Given the description of an element on the screen output the (x, y) to click on. 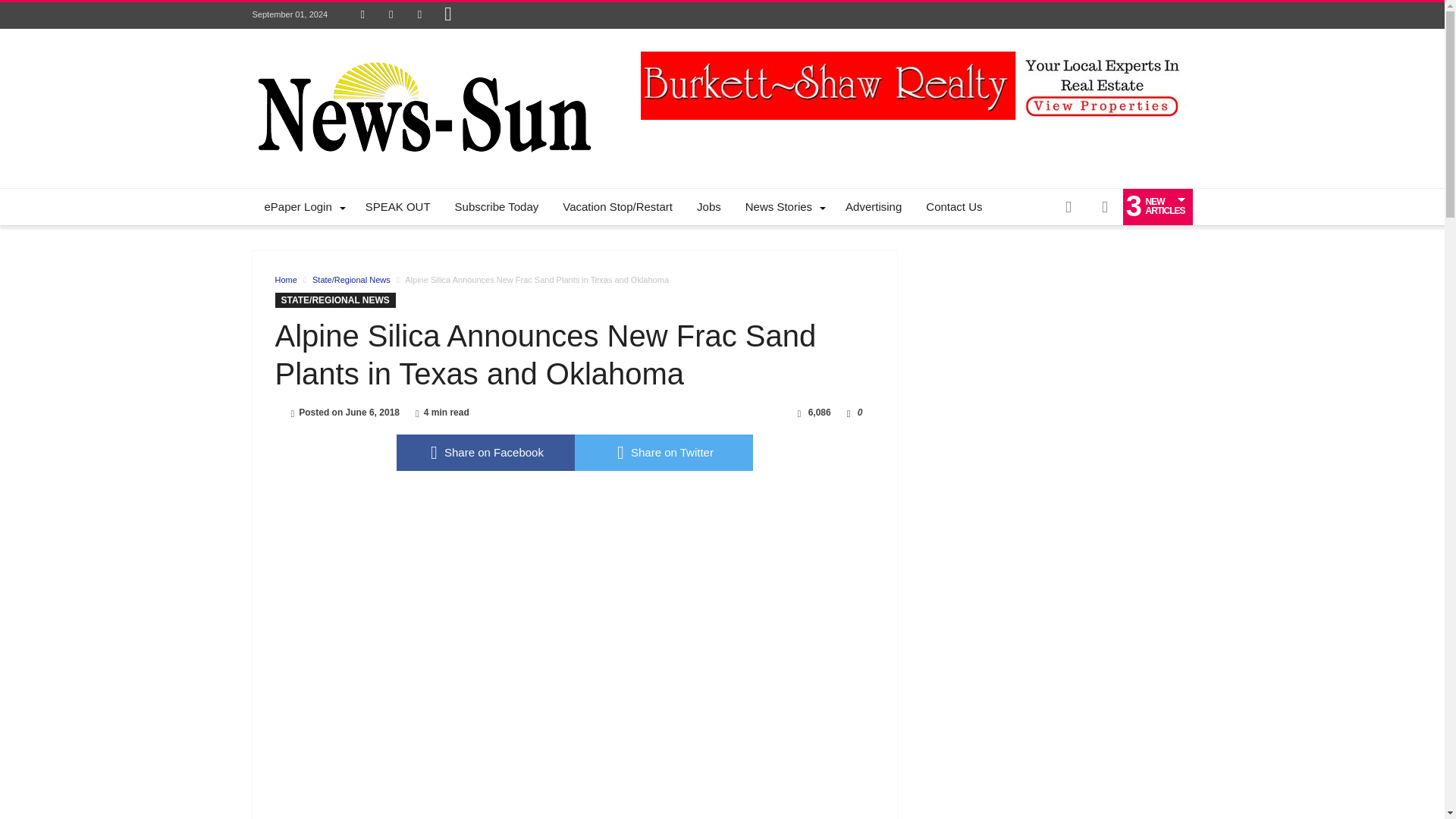
Contact Us (954, 207)
SPEAK OUT (397, 207)
Random Article (1067, 207)
Home (286, 279)
Facebook (362, 15)
Advertising (873, 207)
Youtube (418, 15)
facebook (484, 452)
Share on Twitter (663, 452)
I like this article (849, 412)
